Given the description of an element on the screen output the (x, y) to click on. 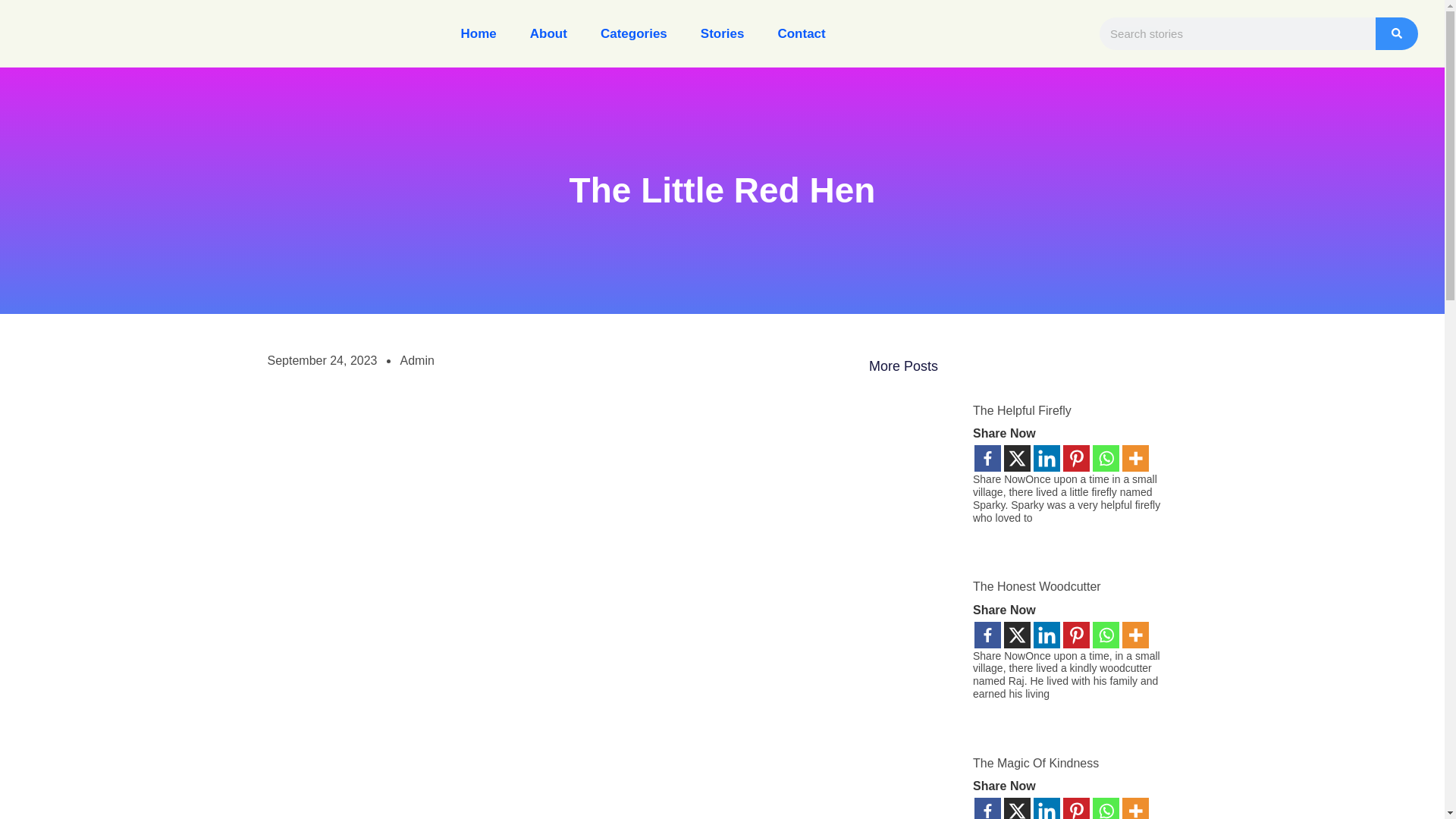
Facebook (987, 634)
Pinterest (1075, 458)
Admin (416, 361)
The Honest Woodcutter (1036, 585)
Linkedin (1046, 634)
Home (478, 33)
Pinterest (1075, 634)
Categories (633, 33)
About (548, 33)
Whatsapp (1106, 458)
X (1017, 458)
Linkedin (1046, 458)
X (1017, 634)
More (1135, 458)
The Helpful Firefly (1021, 410)
